Given the description of an element on the screen output the (x, y) to click on. 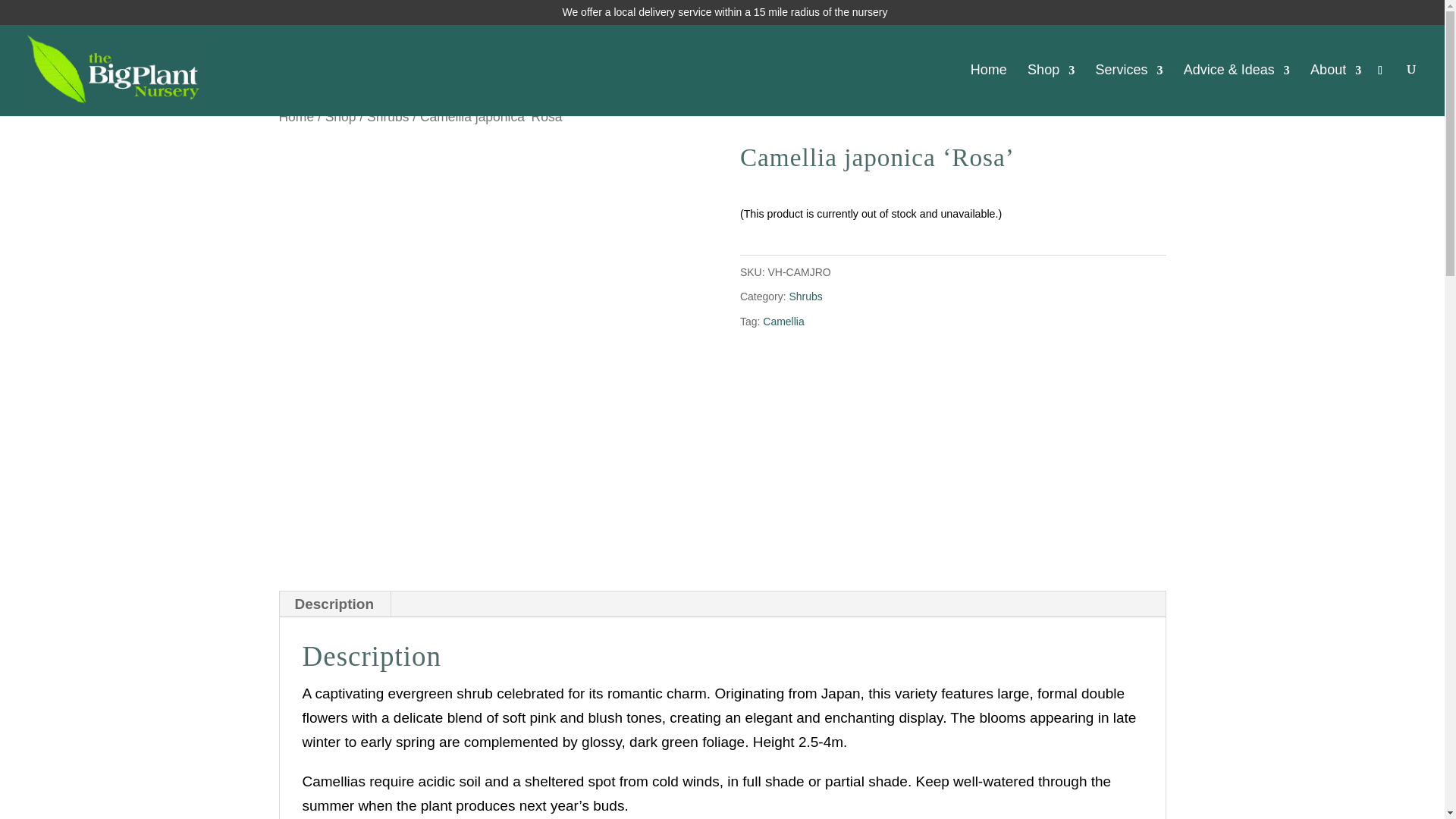
About (1335, 89)
Shrubs (387, 116)
Shop (340, 116)
Home (296, 116)
Services (1127, 89)
